Given the description of an element on the screen output the (x, y) to click on. 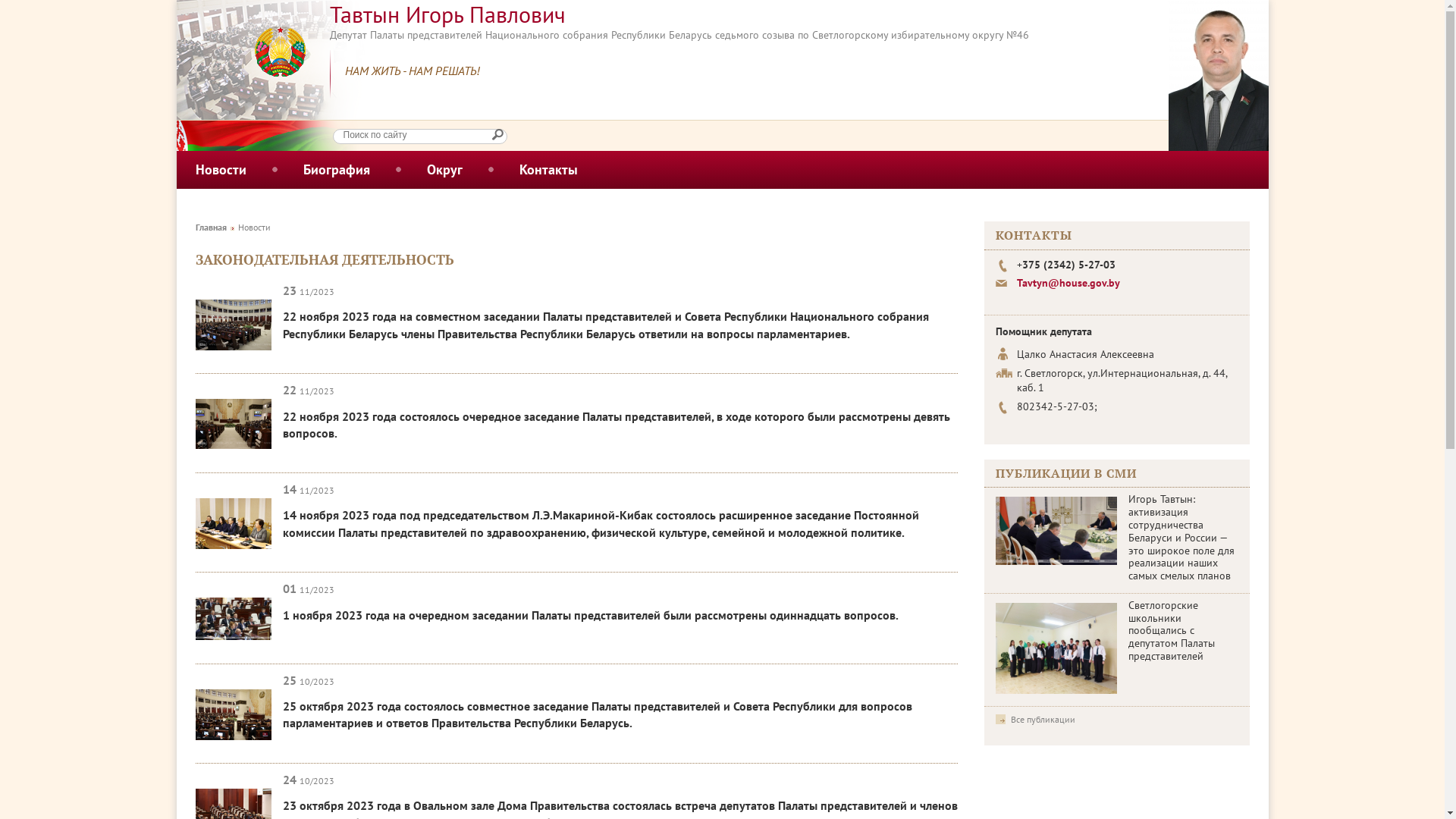
Tavtyn@house.gov.by Element type: text (1067, 282)
